Given the description of an element on the screen output the (x, y) to click on. 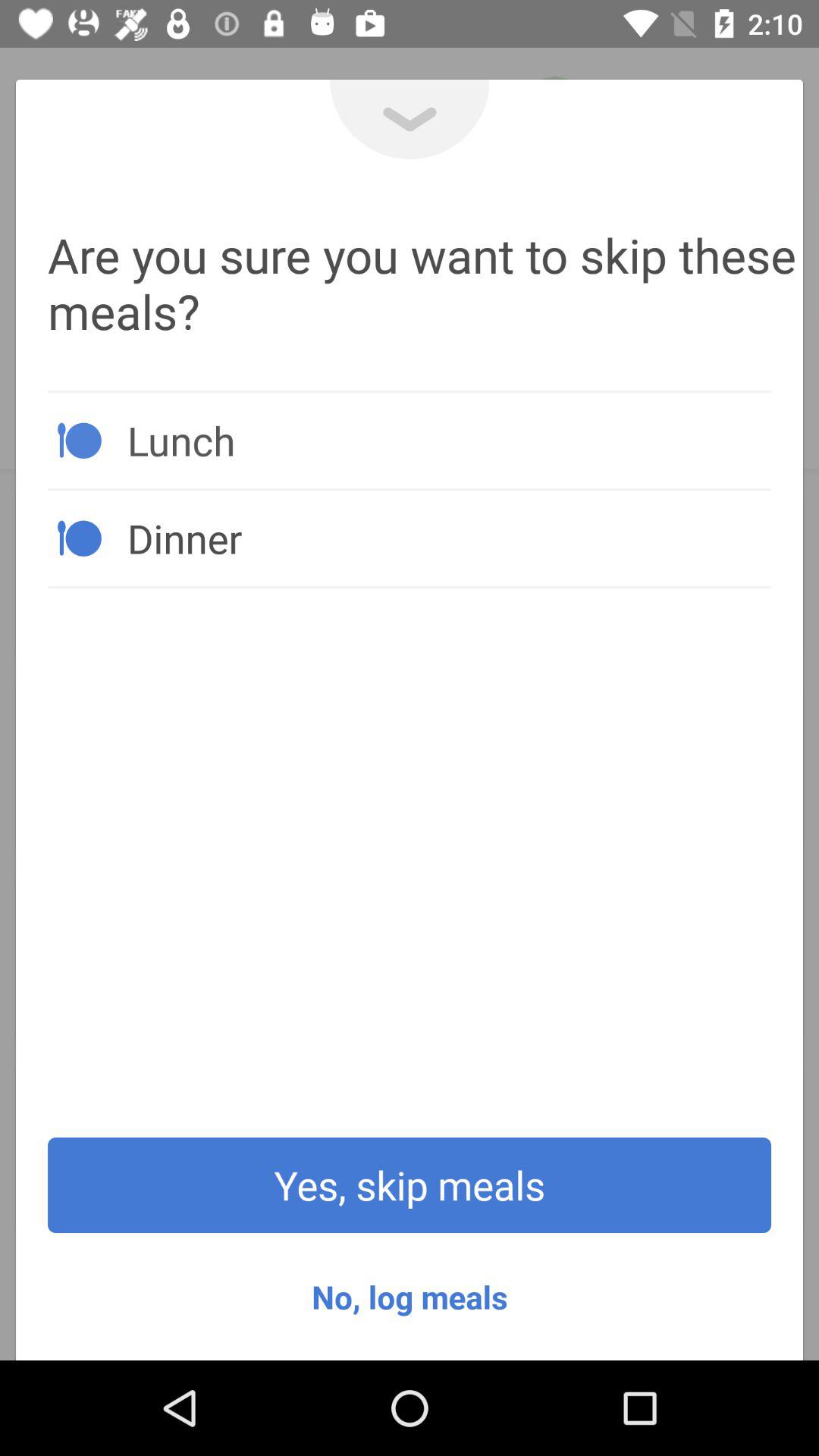
open dinner at the center (449, 537)
